Given the description of an element on the screen output the (x, y) to click on. 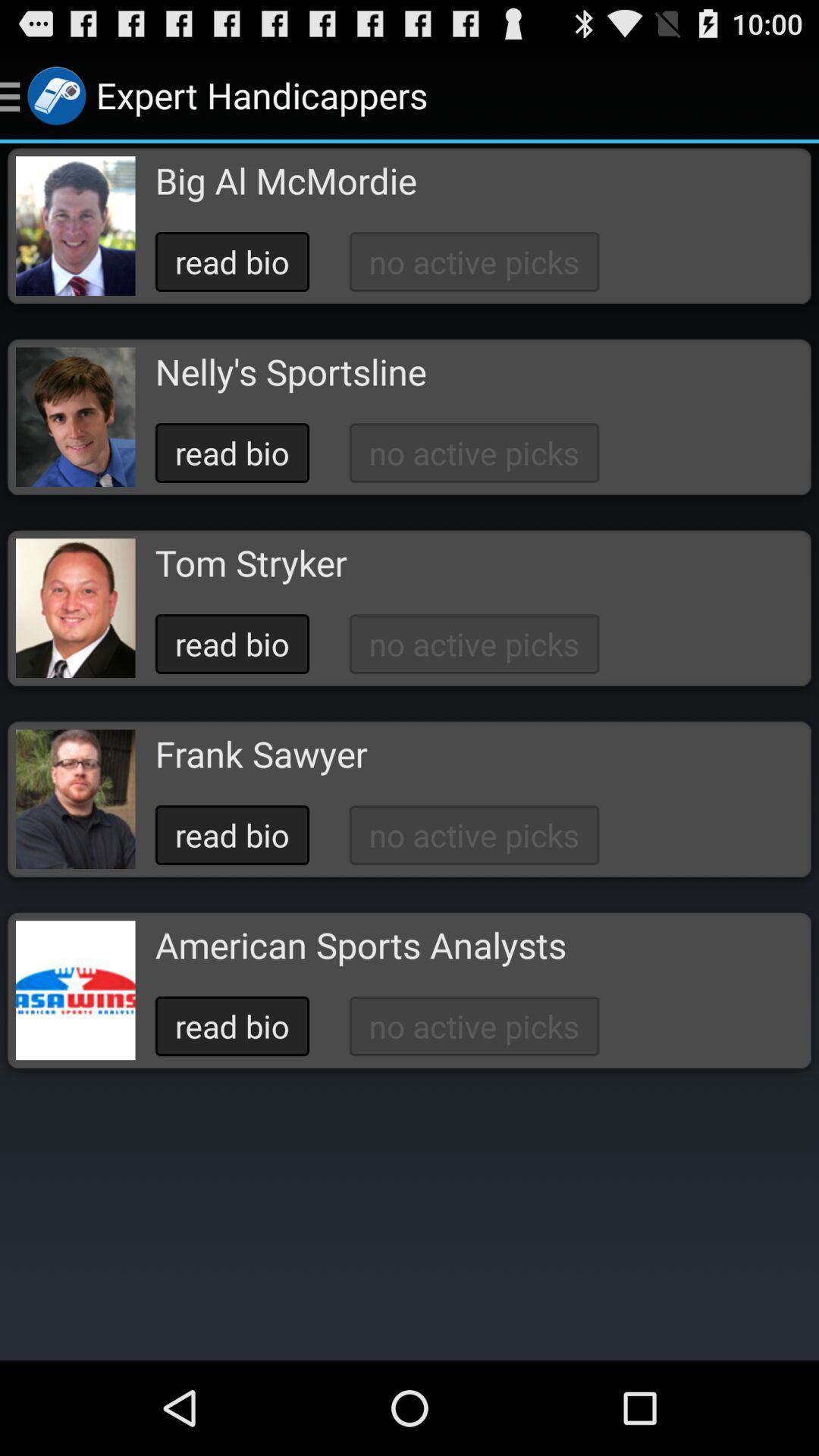
press button above read bio item (250, 562)
